Given the description of an element on the screen output the (x, y) to click on. 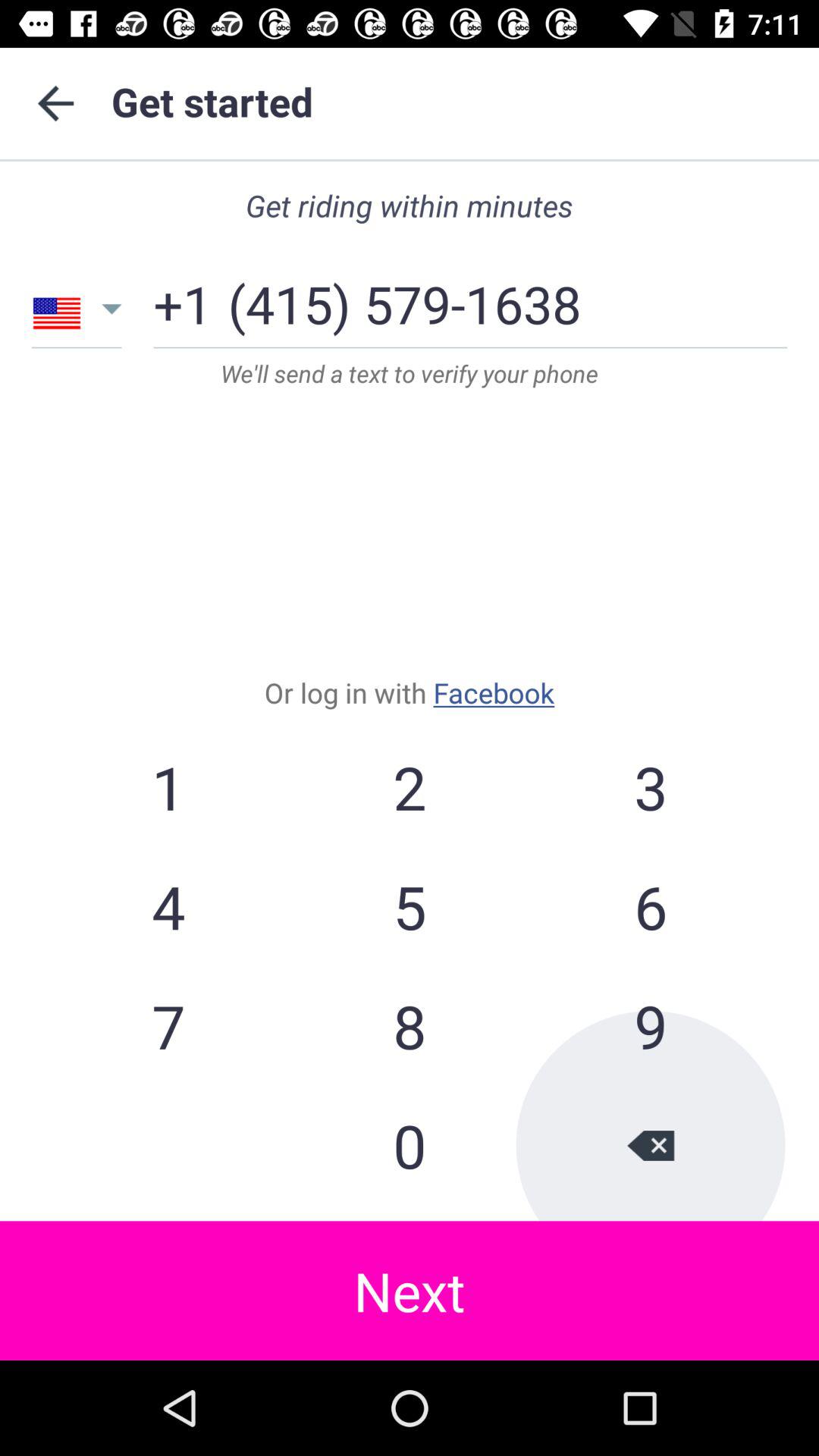
open the item to the right of the 5 icon (650, 1025)
